Given the description of an element on the screen output the (x, y) to click on. 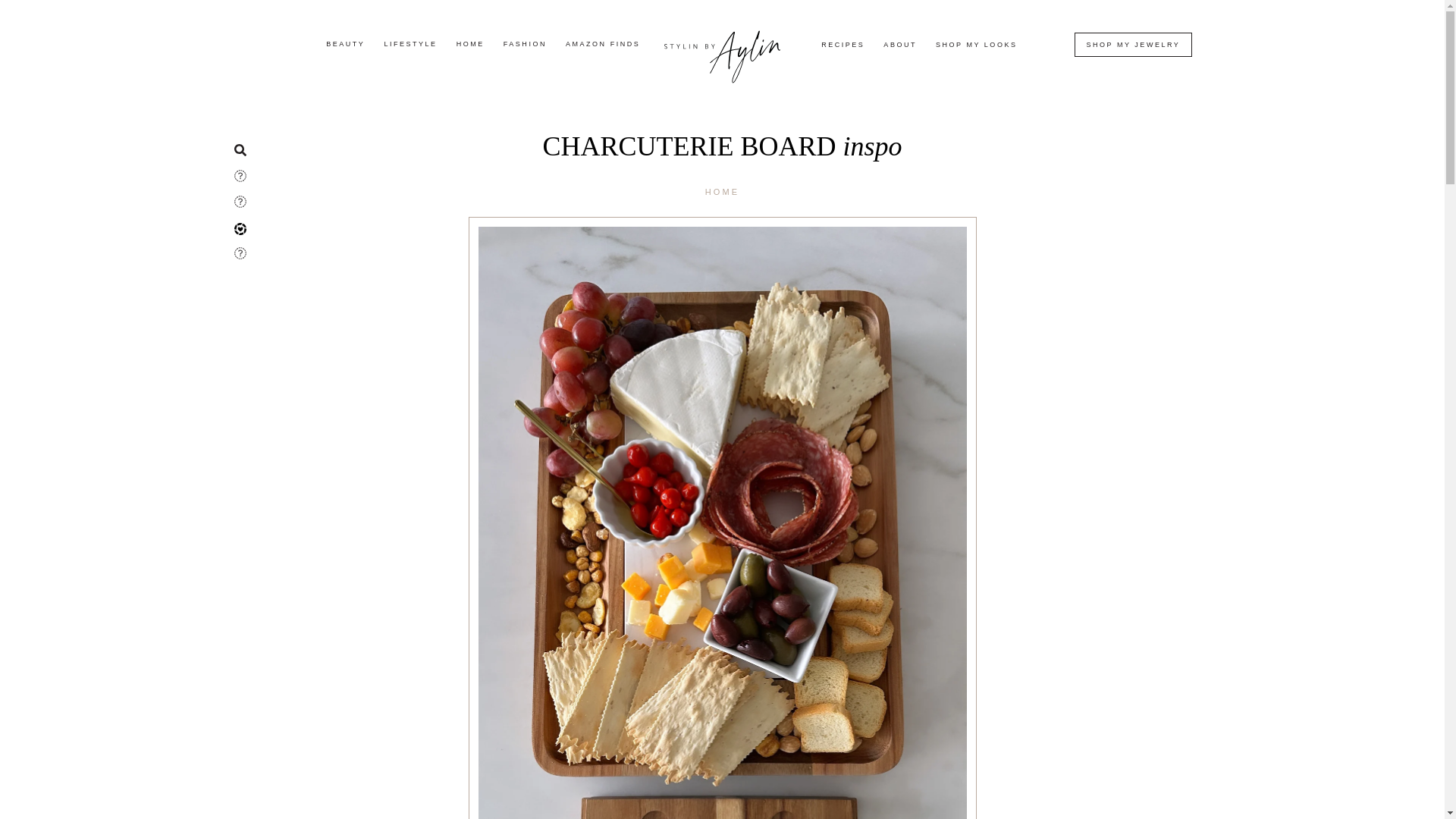
SHOP MY LOOKS (976, 44)
RECIPES (842, 44)
ABOUT (900, 44)
BEAUTY (345, 43)
HOME (470, 43)
FASHION (525, 43)
SHOP MY JEWELRY (1133, 44)
AMAZON FINDS (603, 43)
LIFESTYLE (410, 43)
